Given the description of an element on the screen output the (x, y) to click on. 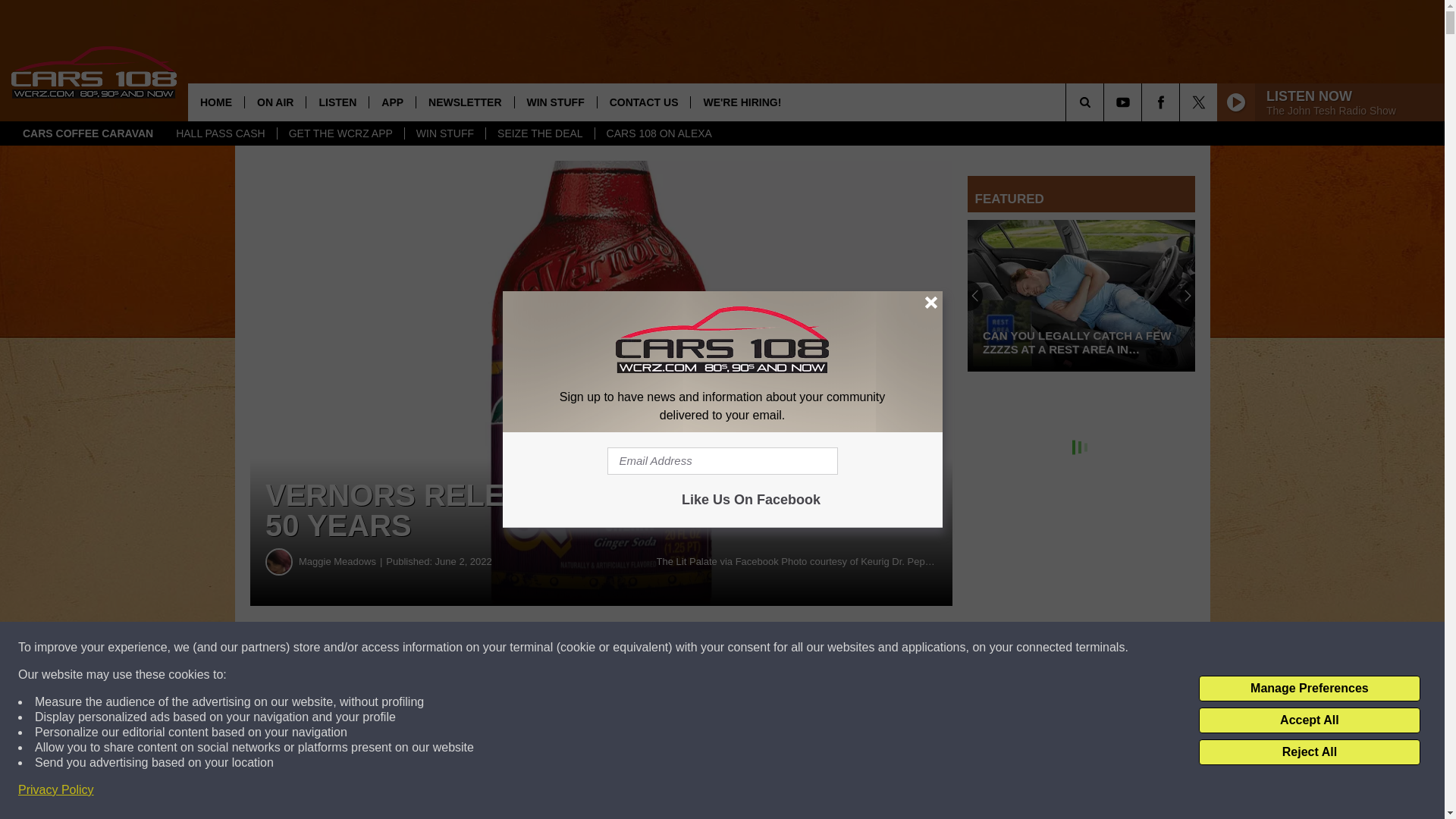
NEWSLETTER (463, 102)
CONTACT US (643, 102)
Manage Preferences (1309, 688)
Reject All (1309, 751)
Privacy Policy (55, 789)
CARS COFFEE CARAVAN (87, 133)
GET THE WCRZ APP (340, 133)
Accept All (1309, 720)
APP (391, 102)
Email Address (722, 461)
WIN STUFF (554, 102)
SEARCH (1106, 102)
LISTEN (336, 102)
SEIZE THE DEAL (539, 133)
HALL PASS CASH (220, 133)
